Given the description of an element on the screen output the (x, y) to click on. 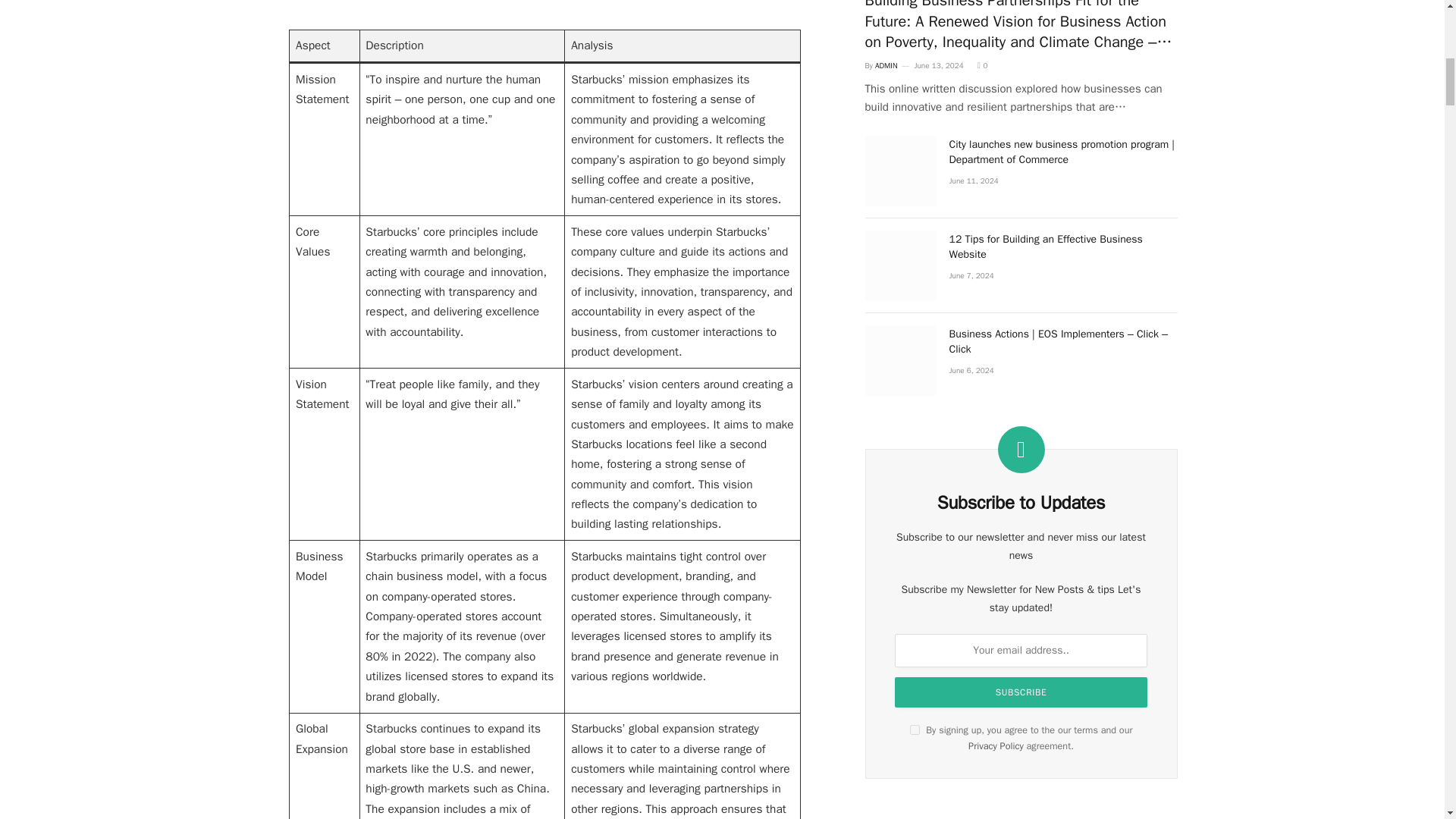
on (915, 729)
Subscribe (1021, 692)
